Given the description of an element on the screen output the (x, y) to click on. 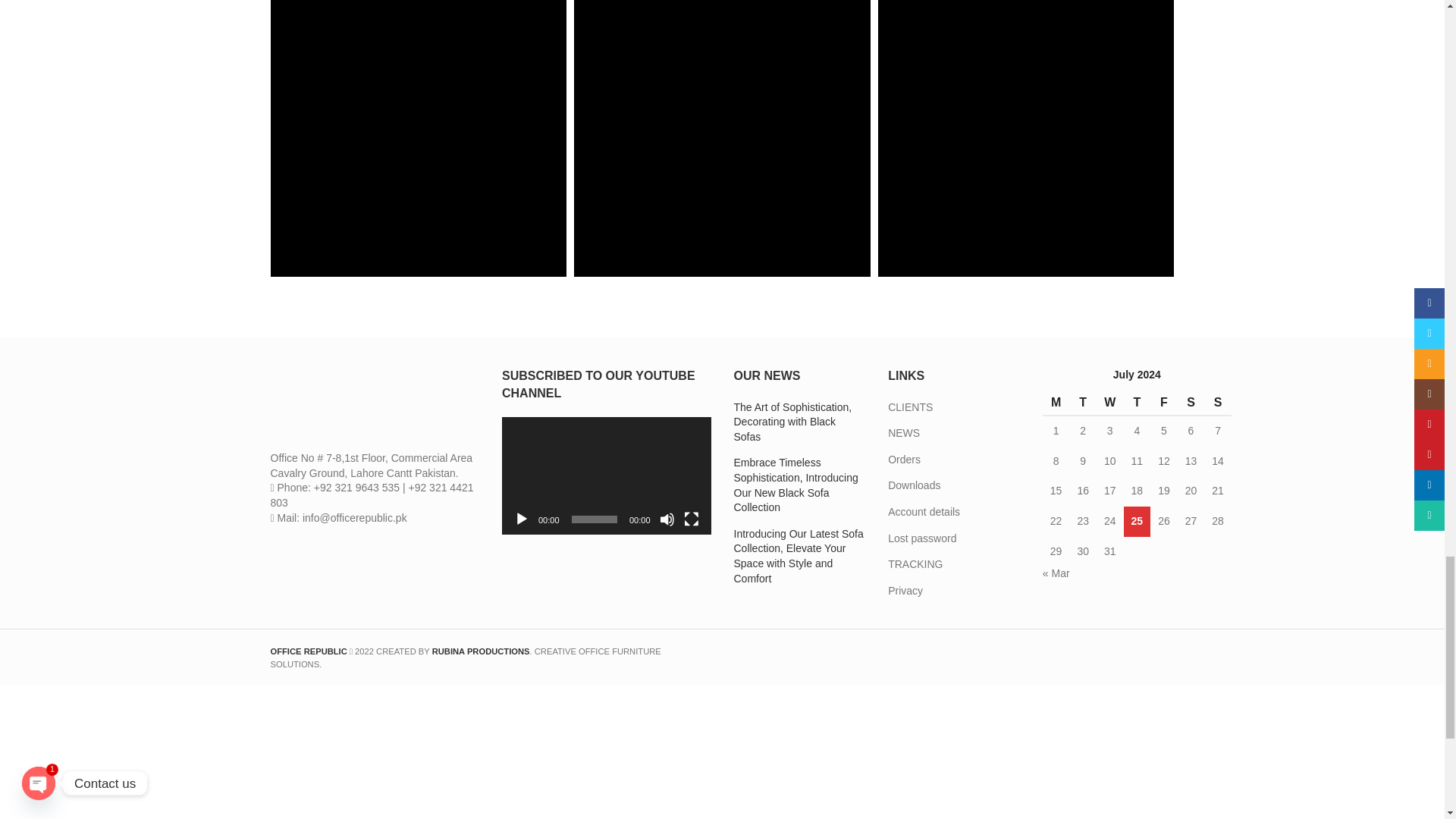
Play (521, 519)
Wednesday (1110, 402)
Fullscreen (691, 519)
Mute (667, 519)
Monday (1056, 402)
Tuesday (1082, 402)
